Given the description of an element on the screen output the (x, y) to click on. 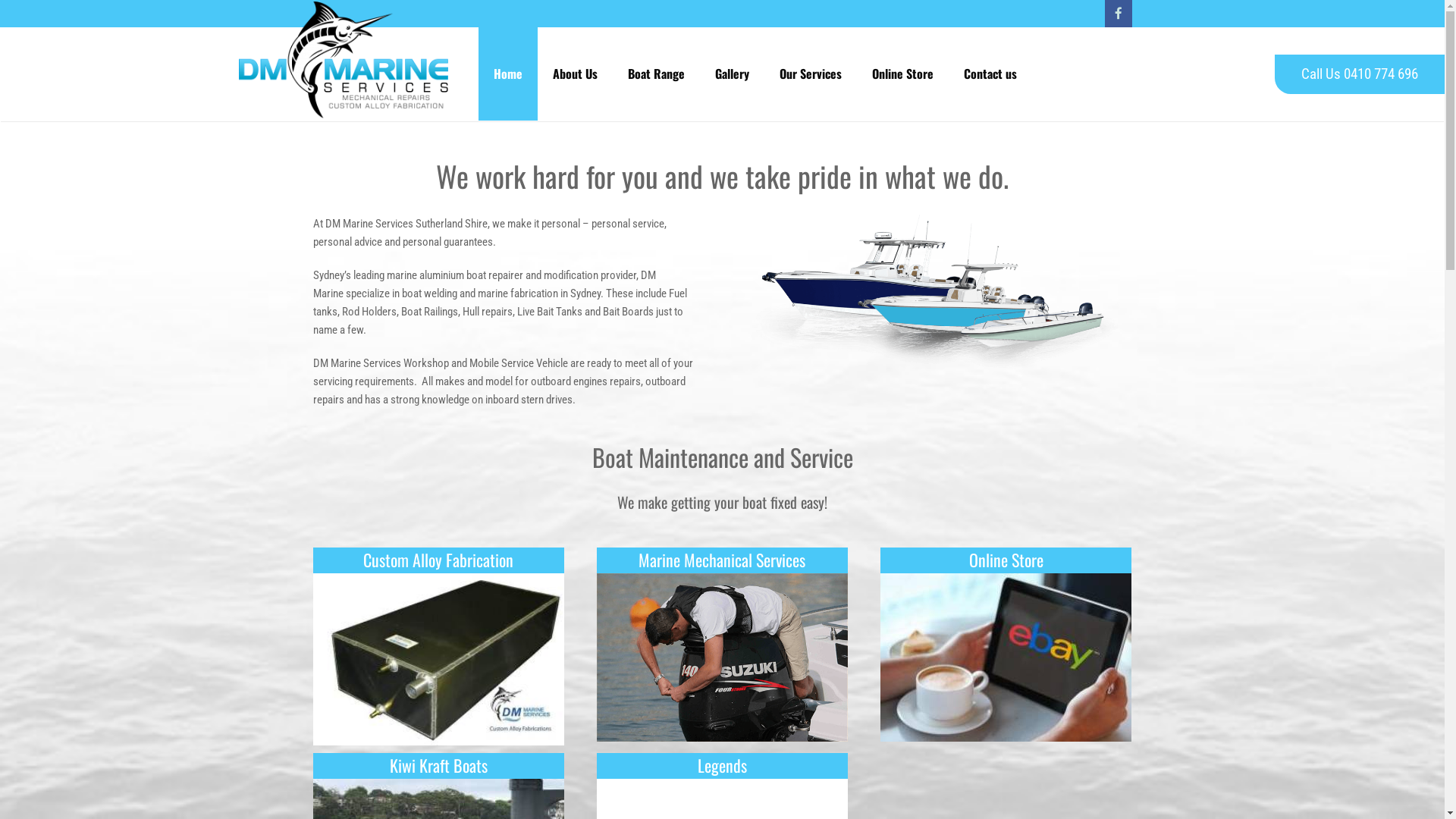
Online Store Element type: text (1006, 559)
Kiwi Kraft Boats Element type: text (438, 765)
0410 774 696 Element type: text (1380, 73)
Contact us Element type: text (989, 73)
Legends Element type: text (721, 765)
About Us Element type: text (573, 73)
Custom Alloy Fabrication Element type: text (438, 559)
Boat Range Element type: text (655, 73)
Gallery Element type: text (731, 73)
Marine Mechanical Services Element type: text (721, 559)
Online Store Element type: text (902, 73)
Home Element type: text (506, 73)
Our Services Element type: text (810, 73)
